Given the description of an element on the screen output the (x, y) to click on. 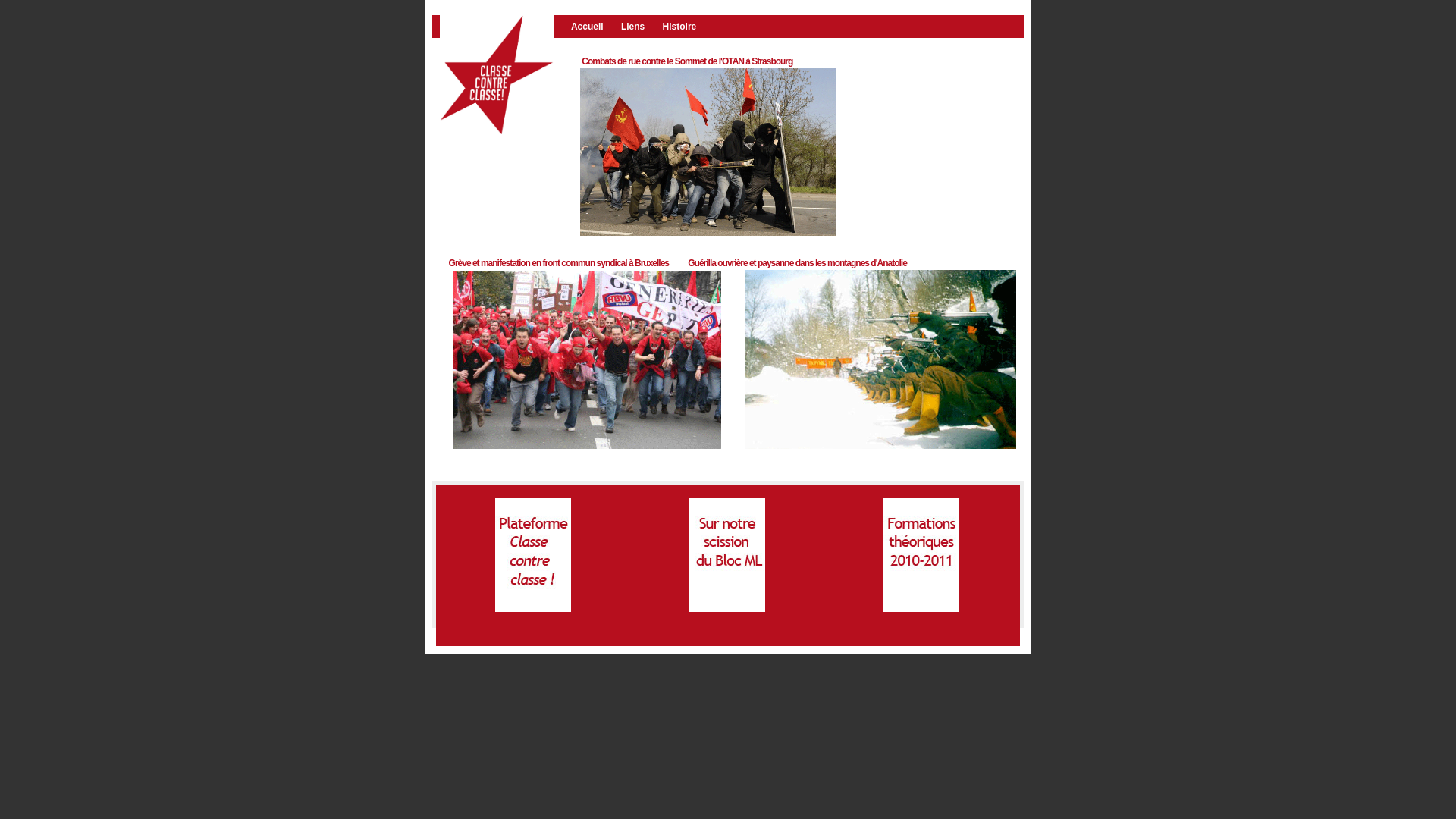
 Accueil Element type: text (593, 26)
 Histoire Element type: text (685, 26)
 Liens Element type: text (639, 26)
